Given the description of an element on the screen output the (x, y) to click on. 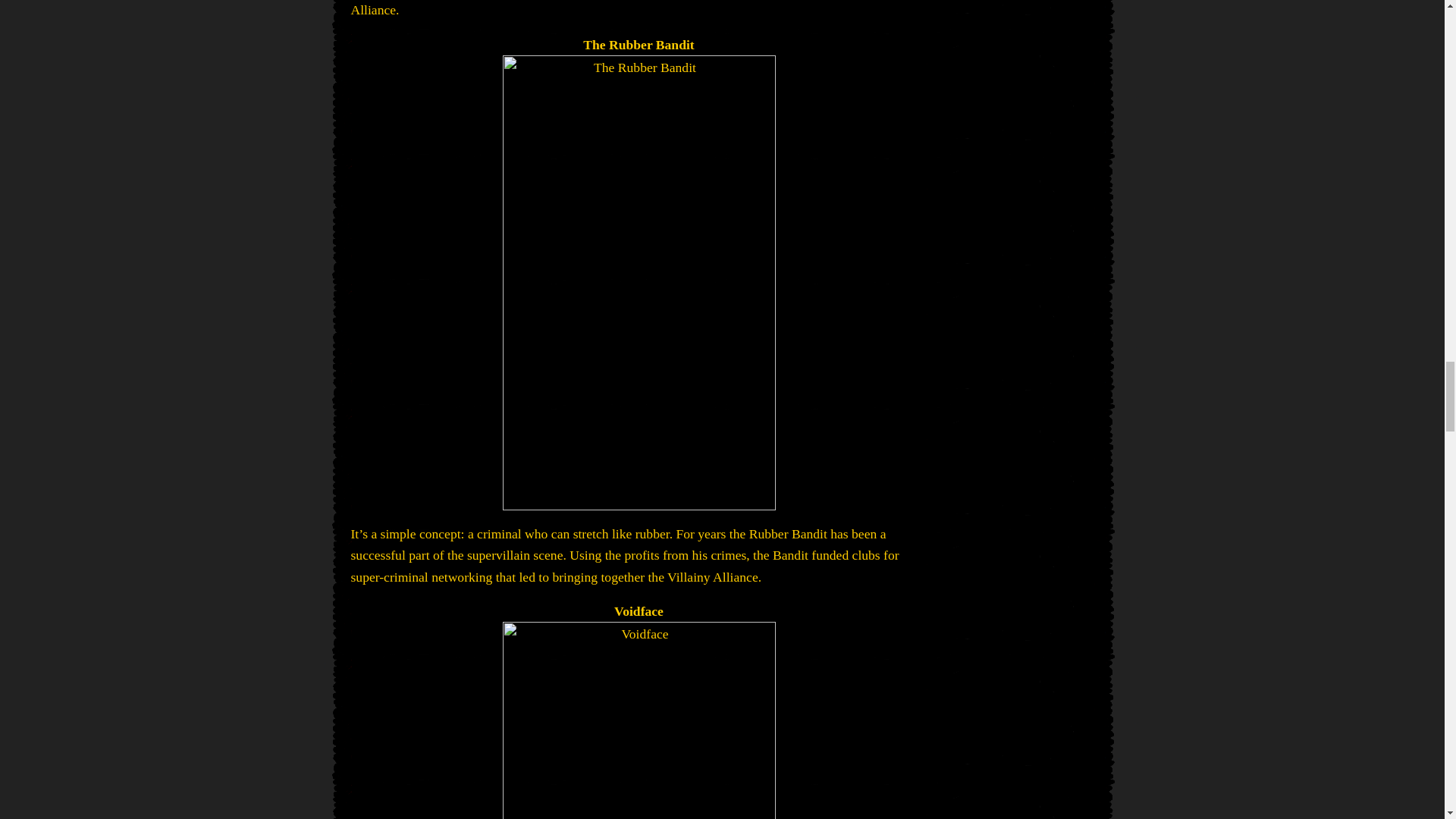
Voidface (638, 720)
